Given the description of an element on the screen output the (x, y) to click on. 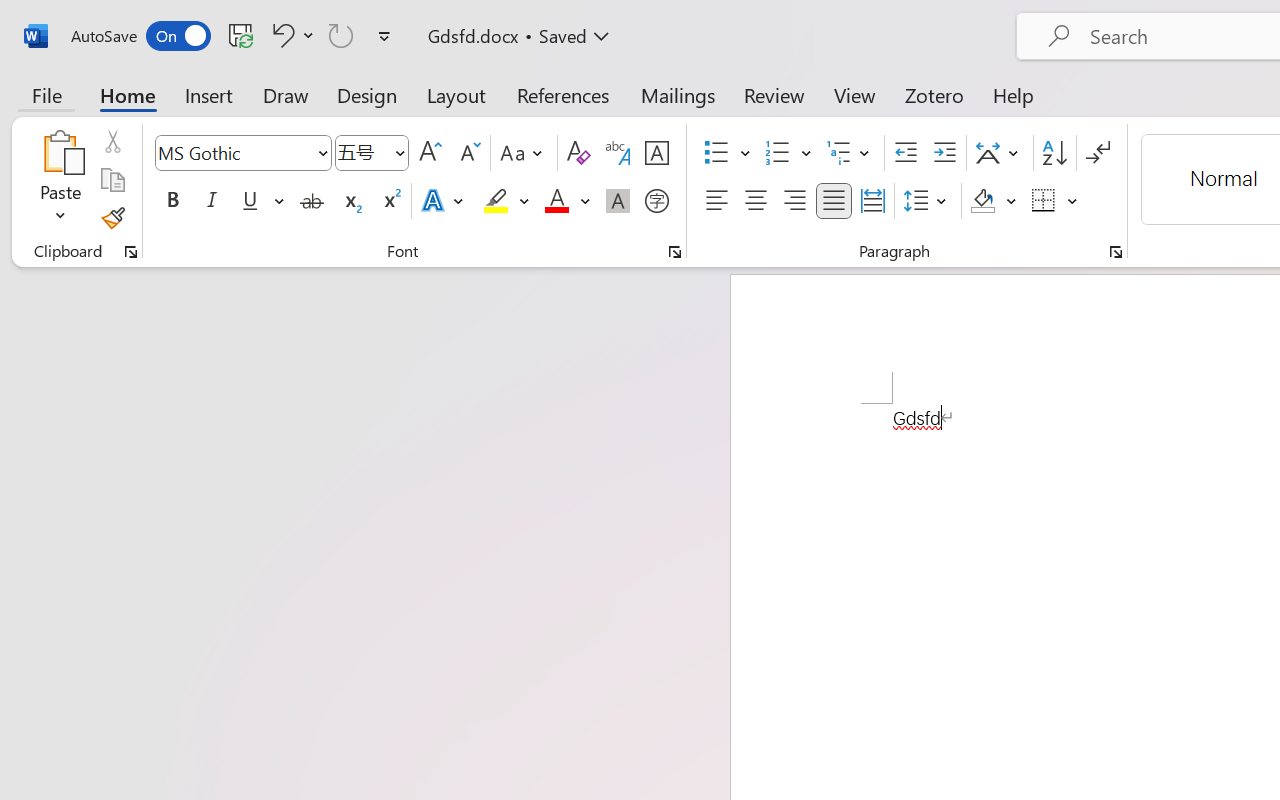
Grow Font (430, 153)
Align Right (794, 201)
Justify (834, 201)
Text Highlight Color (506, 201)
Character Border (656, 153)
Change Case (524, 153)
Character Shading (618, 201)
Phonetic Guide... (618, 153)
Increase Indent (944, 153)
